Given the description of an element on the screen output the (x, y) to click on. 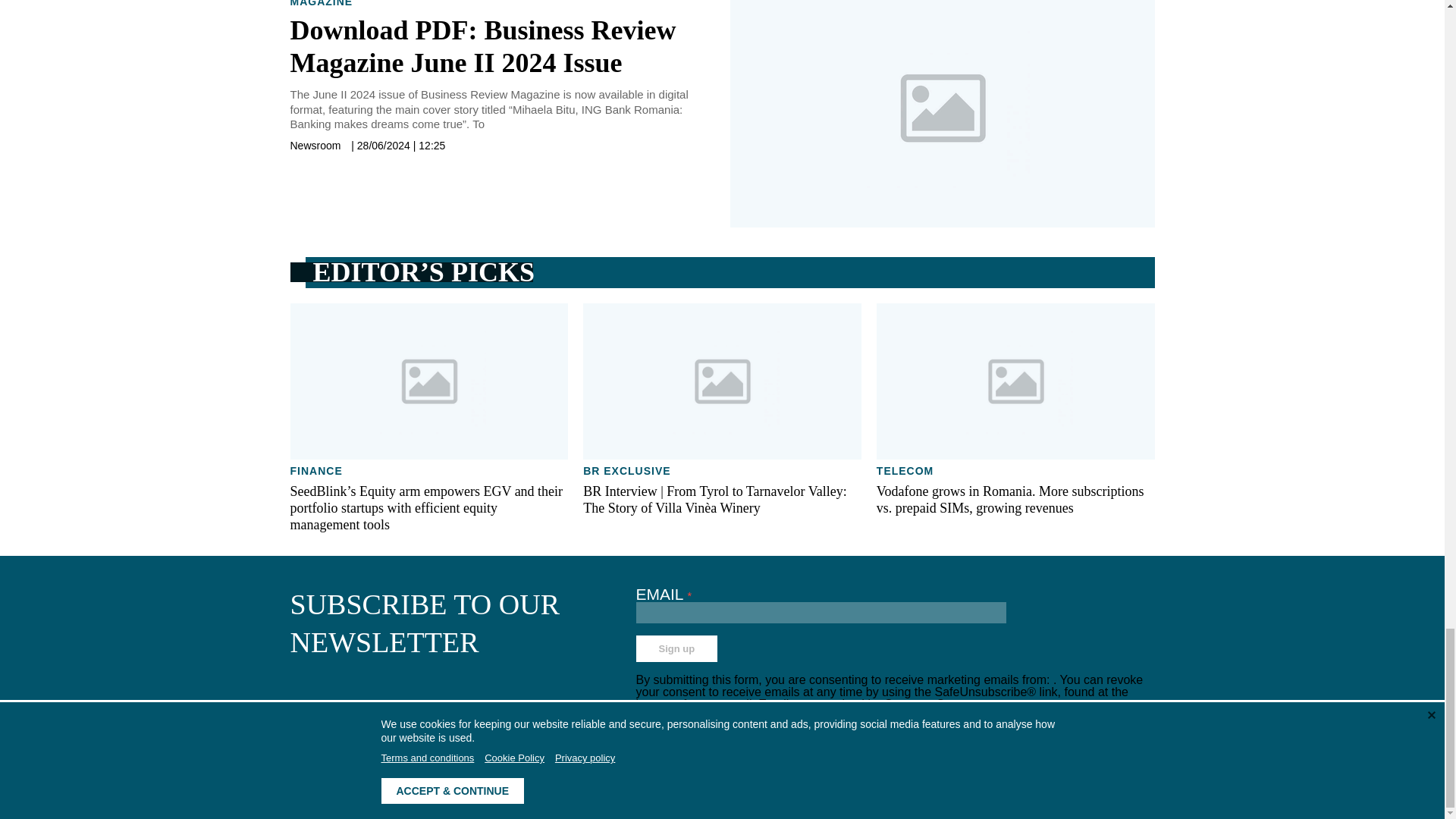
Sign up (675, 648)
